Given the description of an element on the screen output the (x, y) to click on. 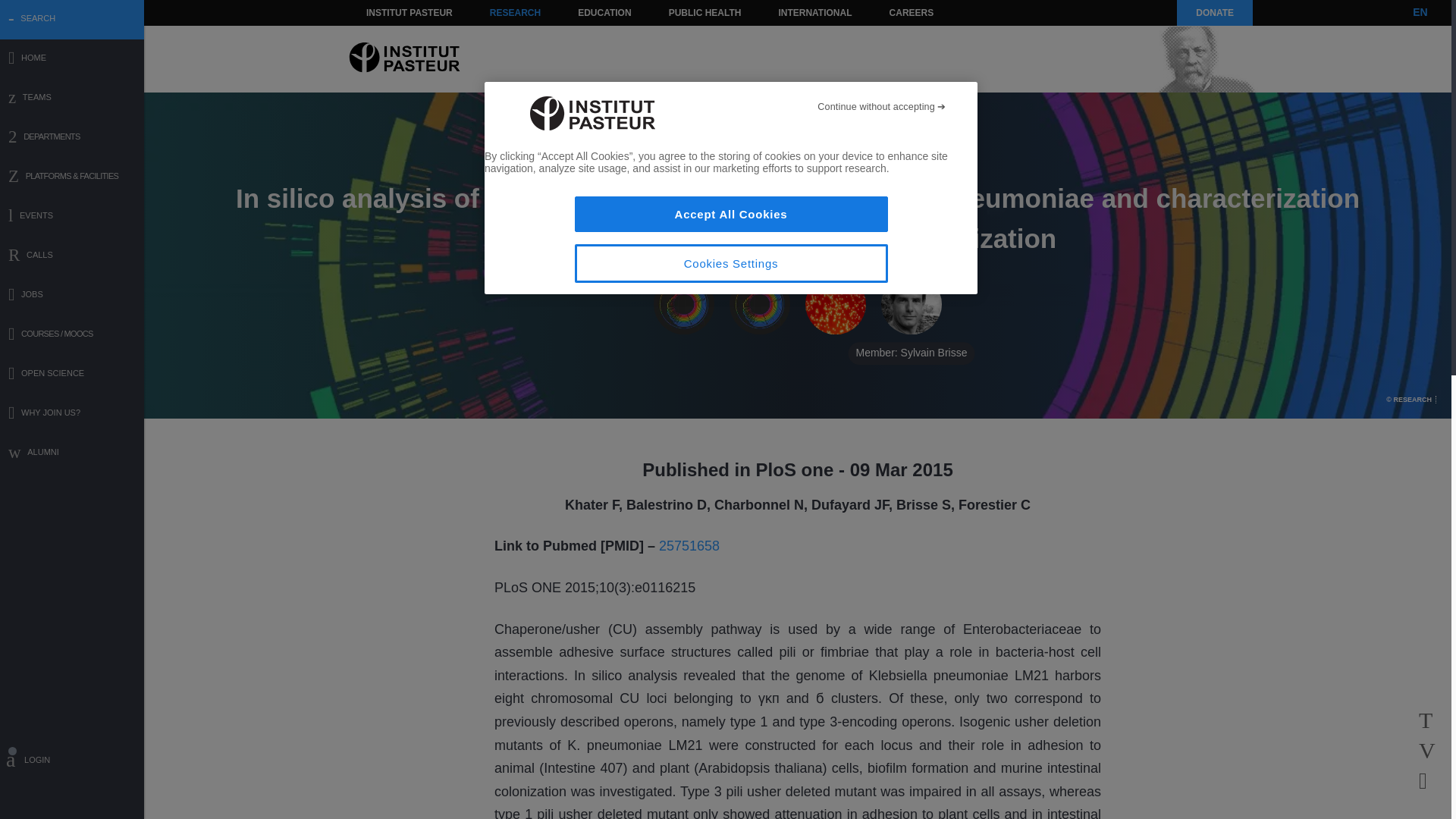
Skip to content (387, 11)
EN (1419, 11)
INSTITUT PASTEUR (409, 12)
TEAMS (72, 98)
Member: Sylvain Brisse (911, 304)
RESEARCH (515, 12)
DEPARTMENTS (72, 137)
Skip to content (387, 11)
WHY JOIN US? (72, 413)
INTERNATIONAL (814, 12)
